Given the description of an element on the screen output the (x, y) to click on. 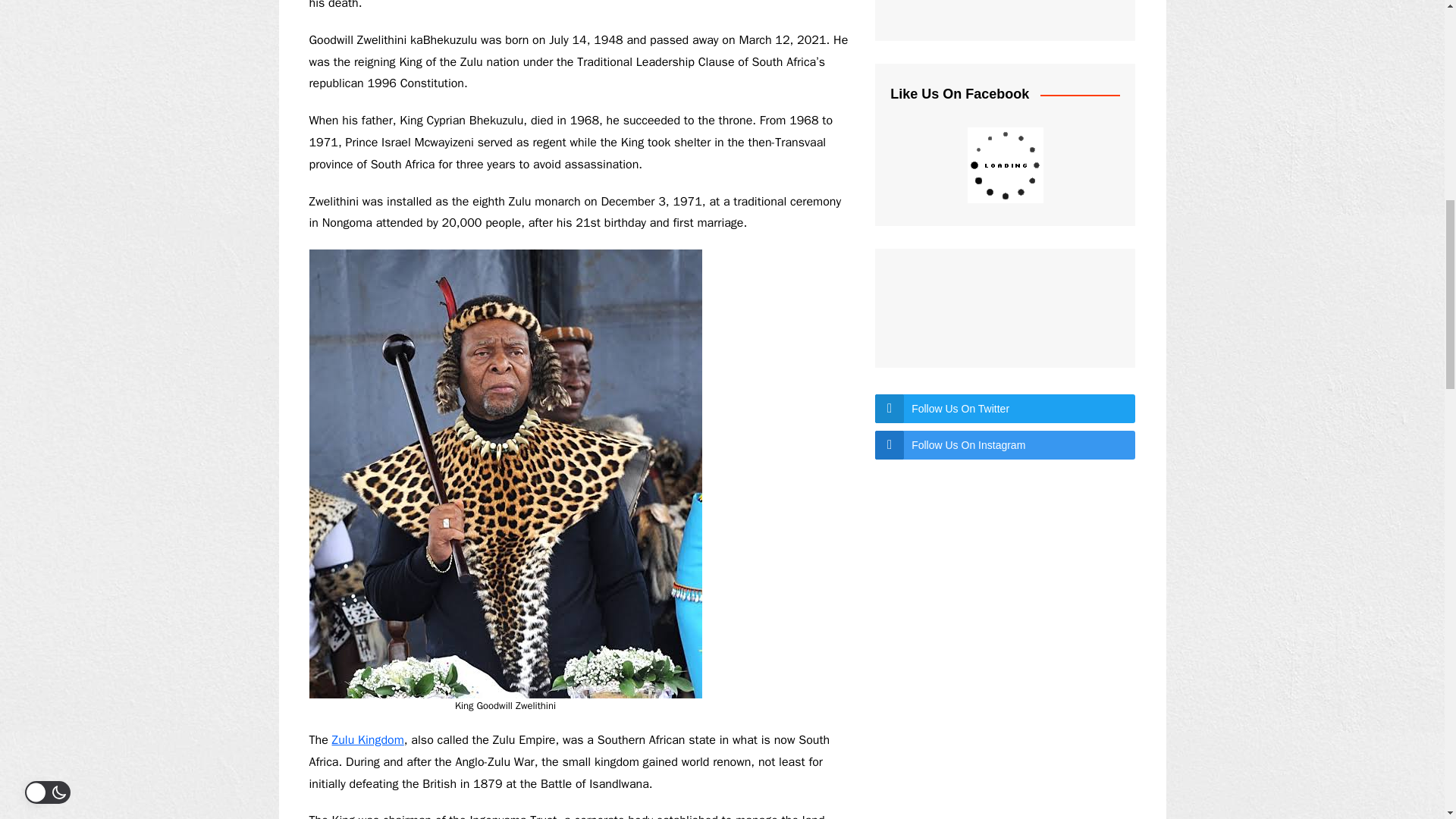
Zulu Kingdom (367, 739)
